Given the description of an element on the screen output the (x, y) to click on. 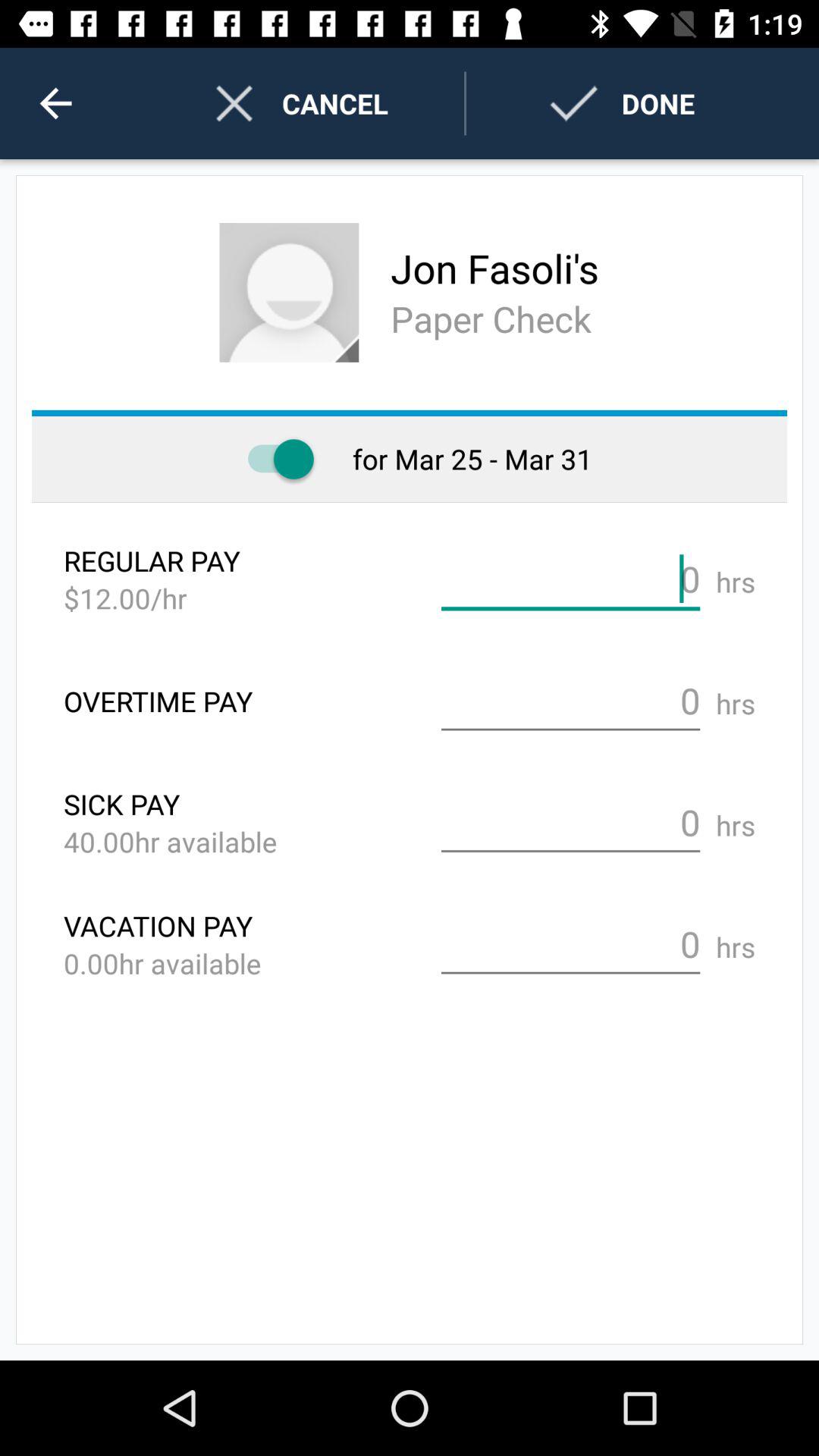
payment per hours option (570, 579)
